Given the description of an element on the screen output the (x, y) to click on. 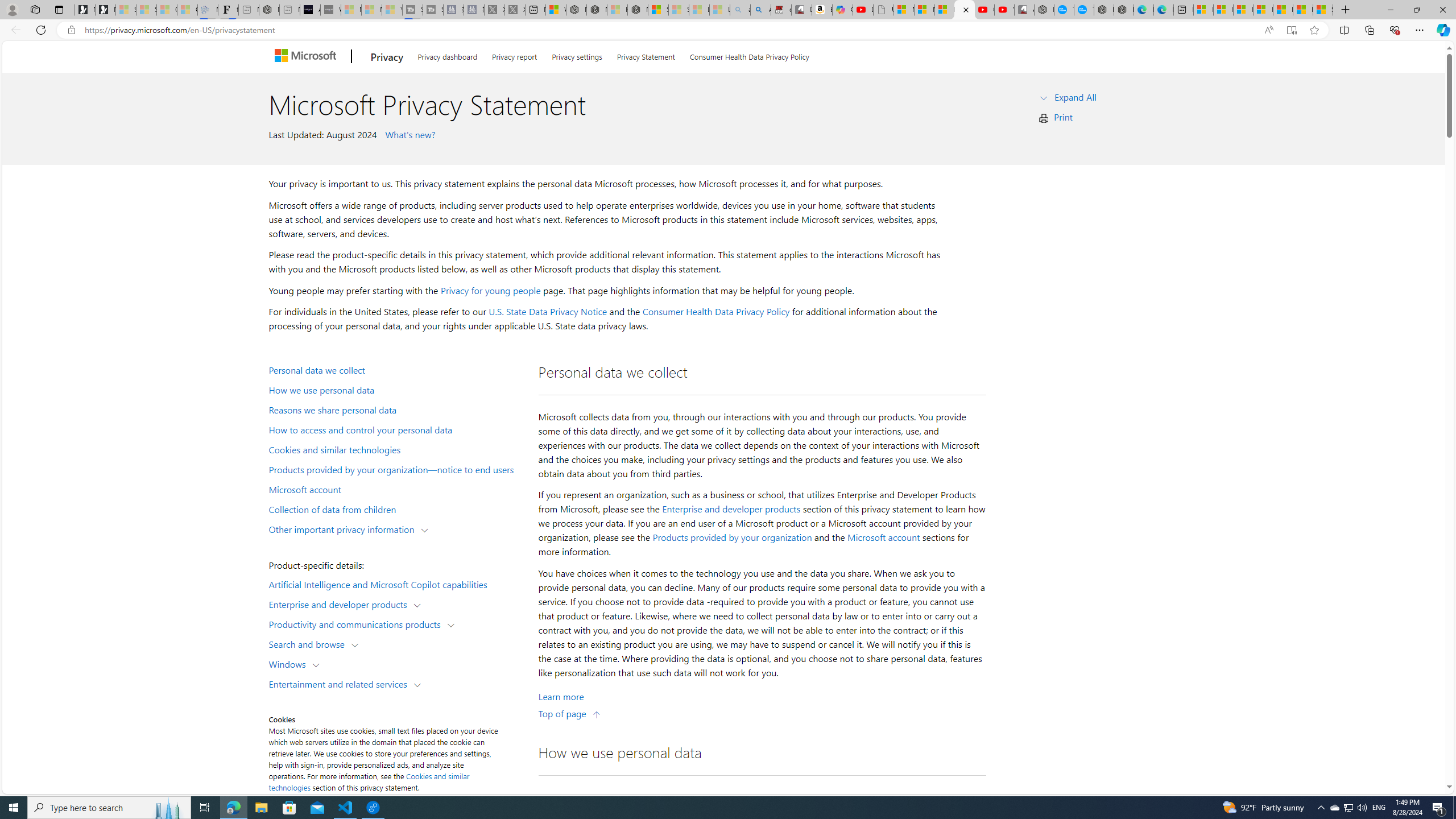
Other important privacy information (343, 528)
Streaming Coverage | T3 - Sleeping (412, 9)
Entertainment and related services (340, 683)
Privacy settings (577, 54)
How we use personal data (395, 389)
Cookies and similar technologies (395, 449)
amazon - Search - Sleeping (740, 9)
Day 1: Arriving in Yemen (surreal to be here) - YouTube (862, 9)
